Given the description of an element on the screen output the (x, y) to click on. 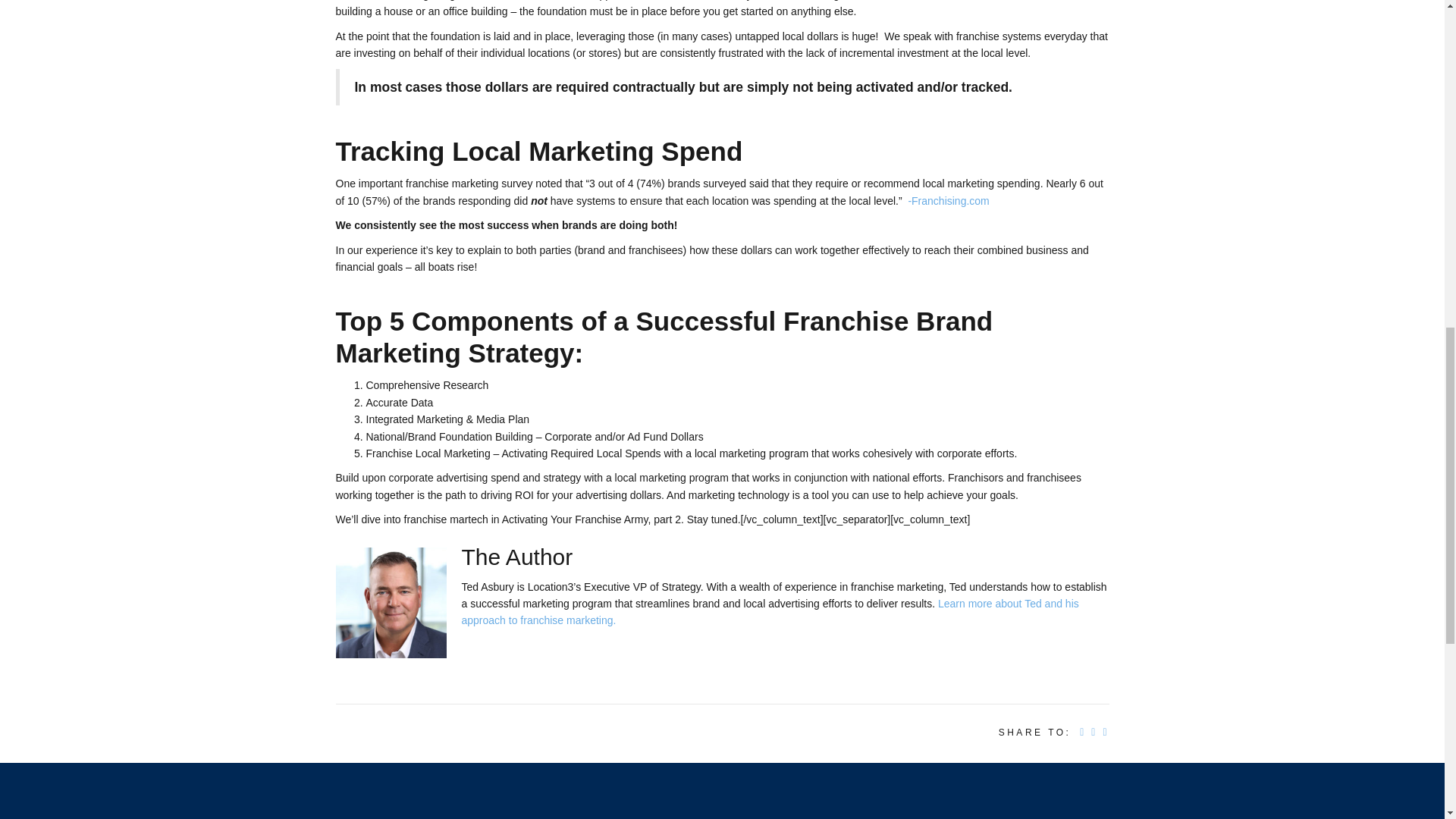
-Franchising.com (947, 200)
